Given the description of an element on the screen output the (x, y) to click on. 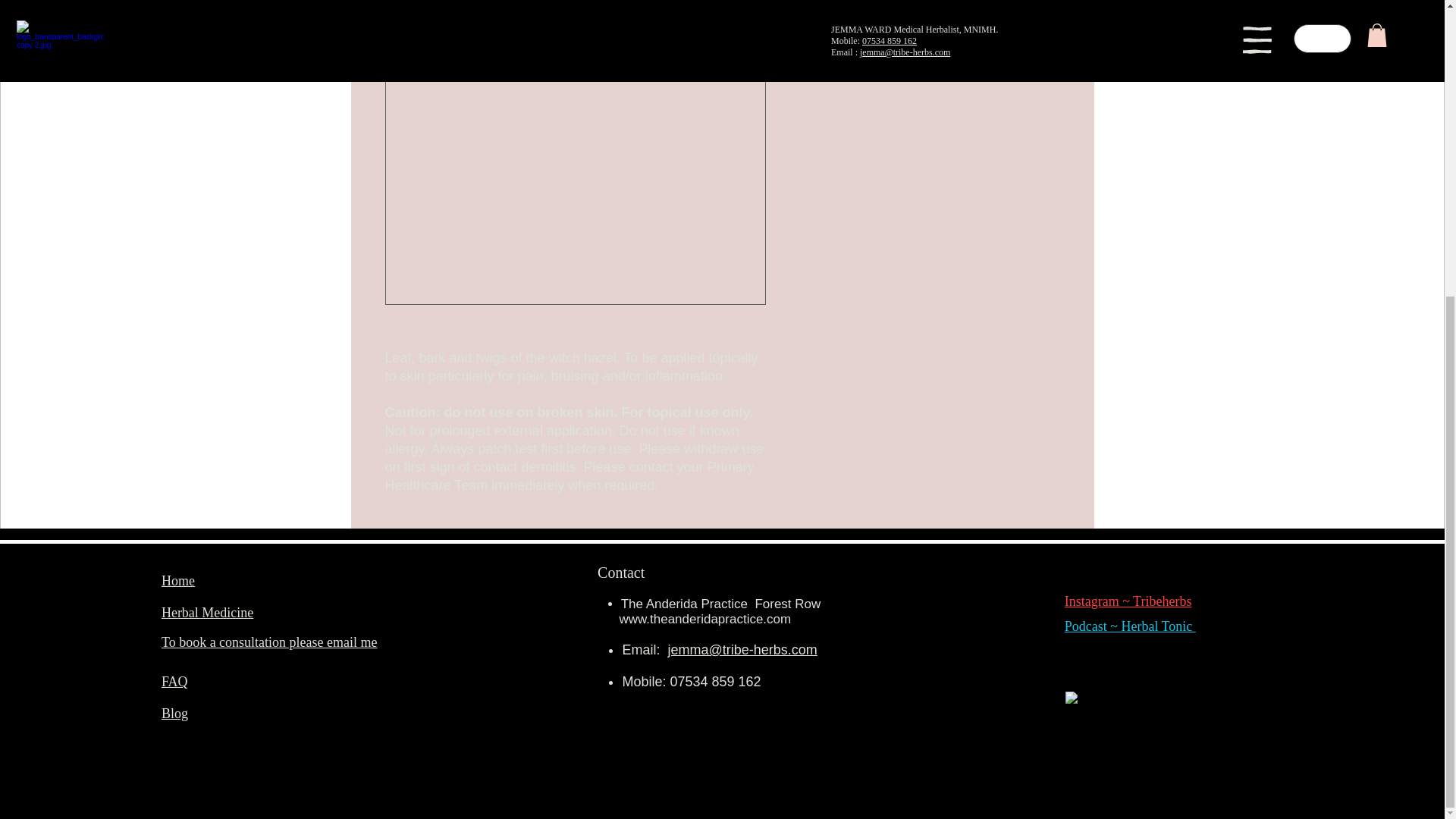
Herbal Medicine (207, 612)
www.theanderidapractice.com (704, 618)
Home (178, 580)
To book a consultation please email me (269, 642)
Blog (174, 713)
FAQ (174, 681)
07534 859 162 (715, 681)
